Given the description of an element on the screen output the (x, y) to click on. 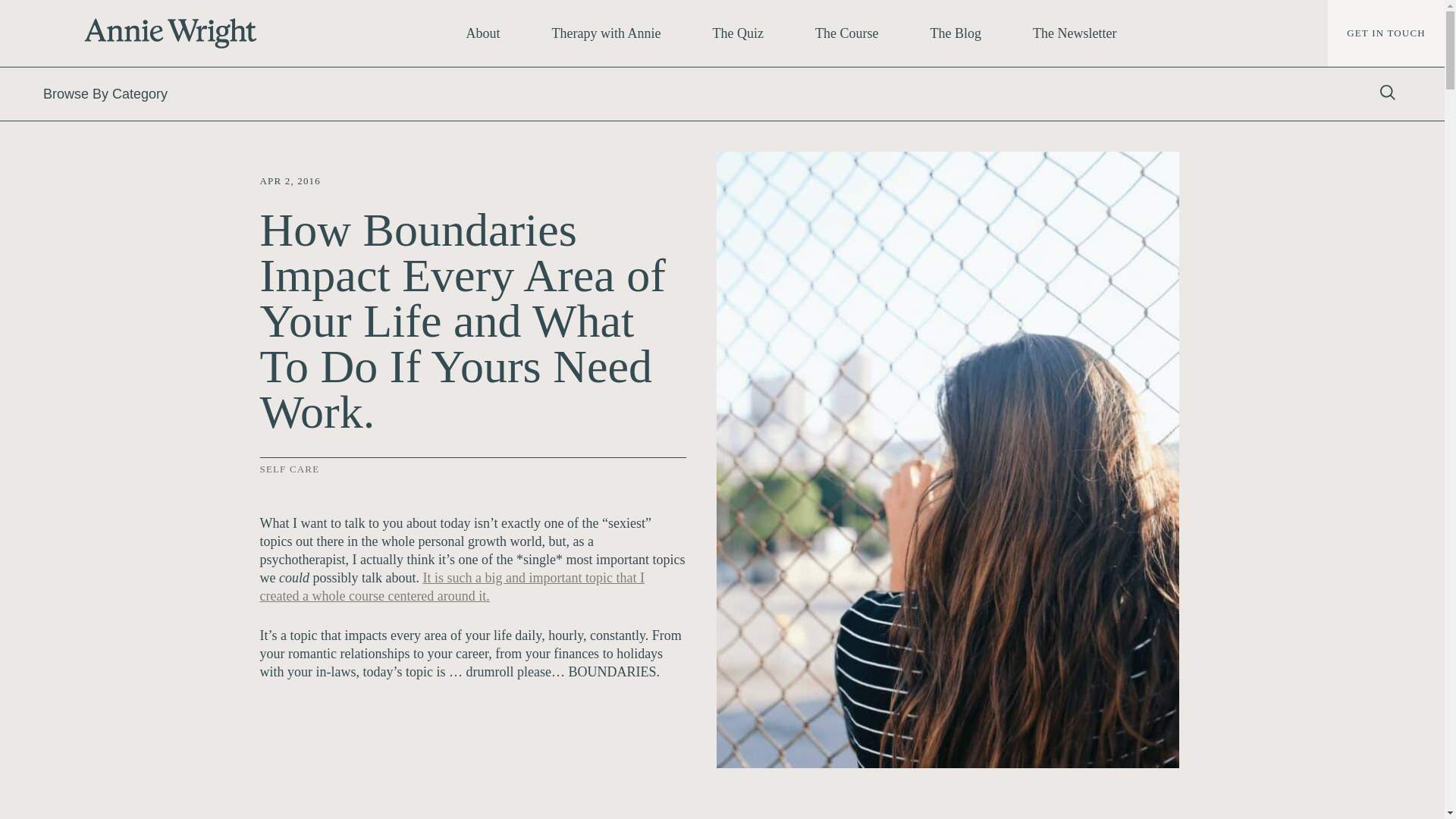
The Blog (954, 33)
SELF CARE (288, 469)
The Course (846, 33)
Therapy with Annie (606, 33)
The Quiz (737, 33)
The Newsletter (1074, 33)
